Given the description of an element on the screen output the (x, y) to click on. 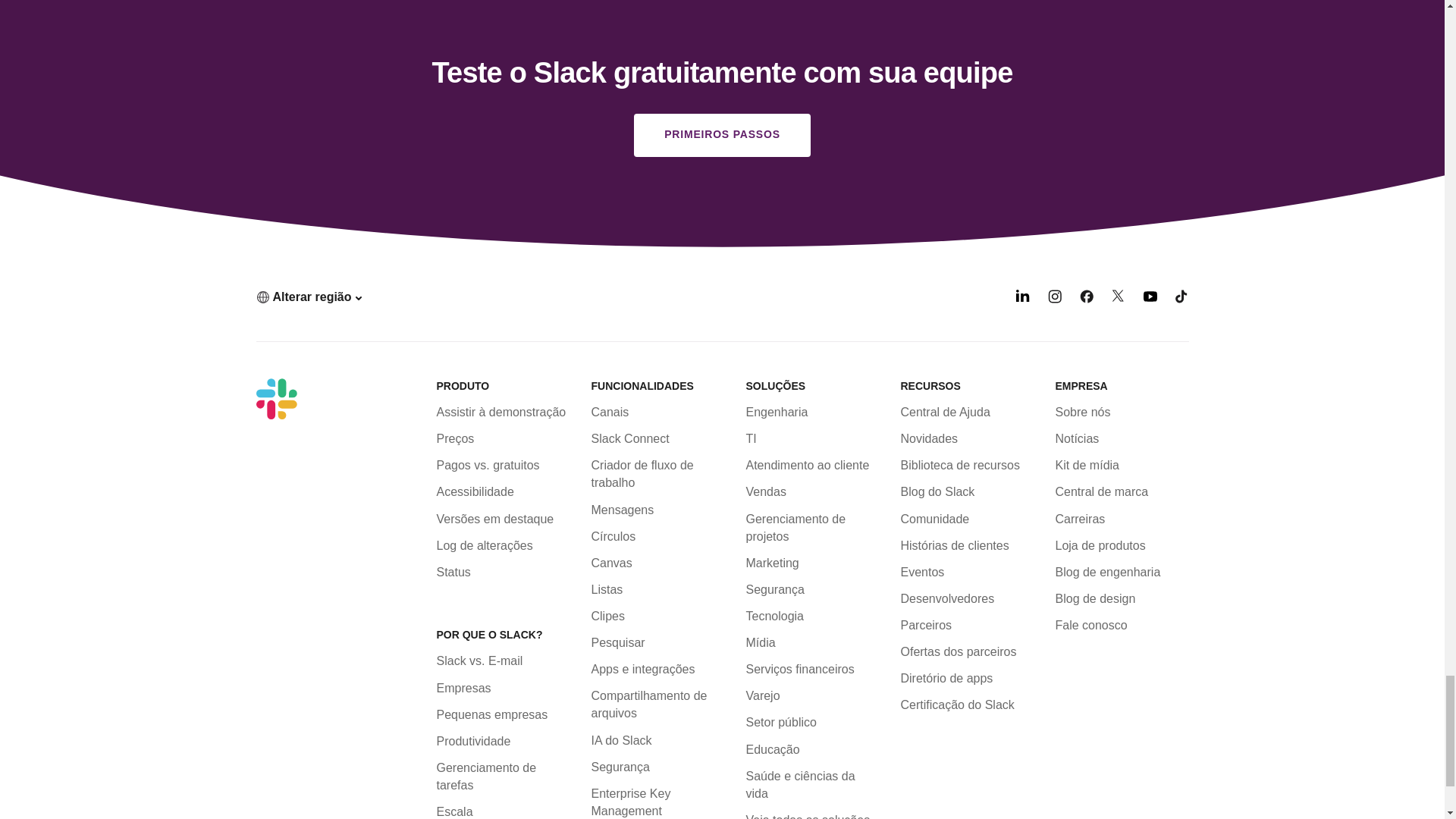
TikTok (1181, 298)
X (1118, 298)
Facebook (1086, 298)
Slack (276, 398)
Instagram (1054, 298)
LinkedIn (1022, 298)
YouTube (1149, 298)
